Given the description of an element on the screen output the (x, y) to click on. 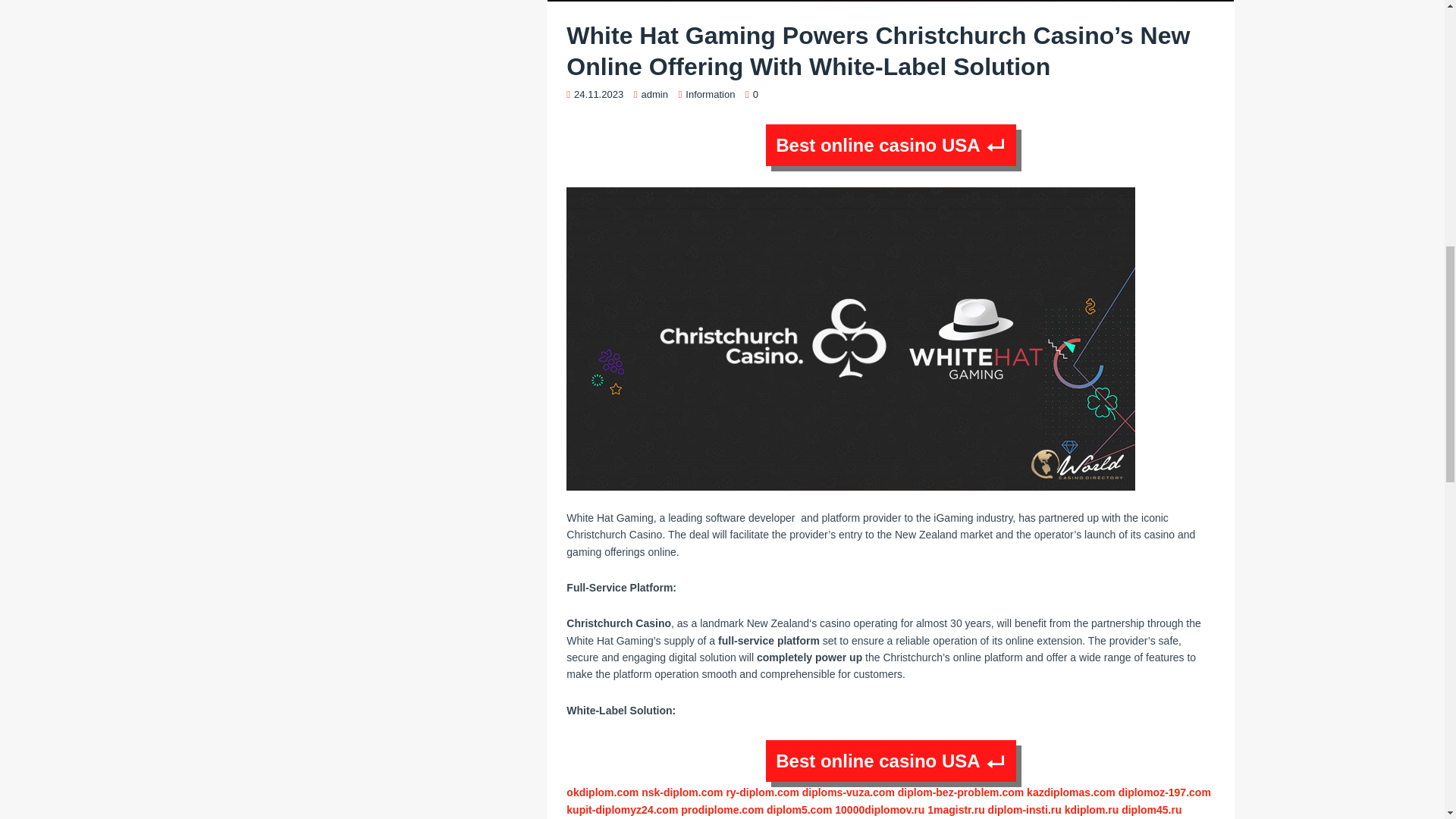
admin (655, 93)
kupit-diplomyz24.com (622, 809)
nsk-diplom.com (682, 792)
kazdiplomas.com (1070, 792)
diplomoz-197.com (1164, 792)
24.11.2023 (598, 93)
Best online casino USA (889, 761)
prodiplome.com (721, 809)
ry-diplom.com (761, 792)
10000diplomov.ru (879, 809)
Information (710, 93)
diploms-vuza.com (848, 792)
diplom45.ru (1150, 809)
diplom-insti.ru (1024, 809)
